Given the description of an element on the screen output the (x, y) to click on. 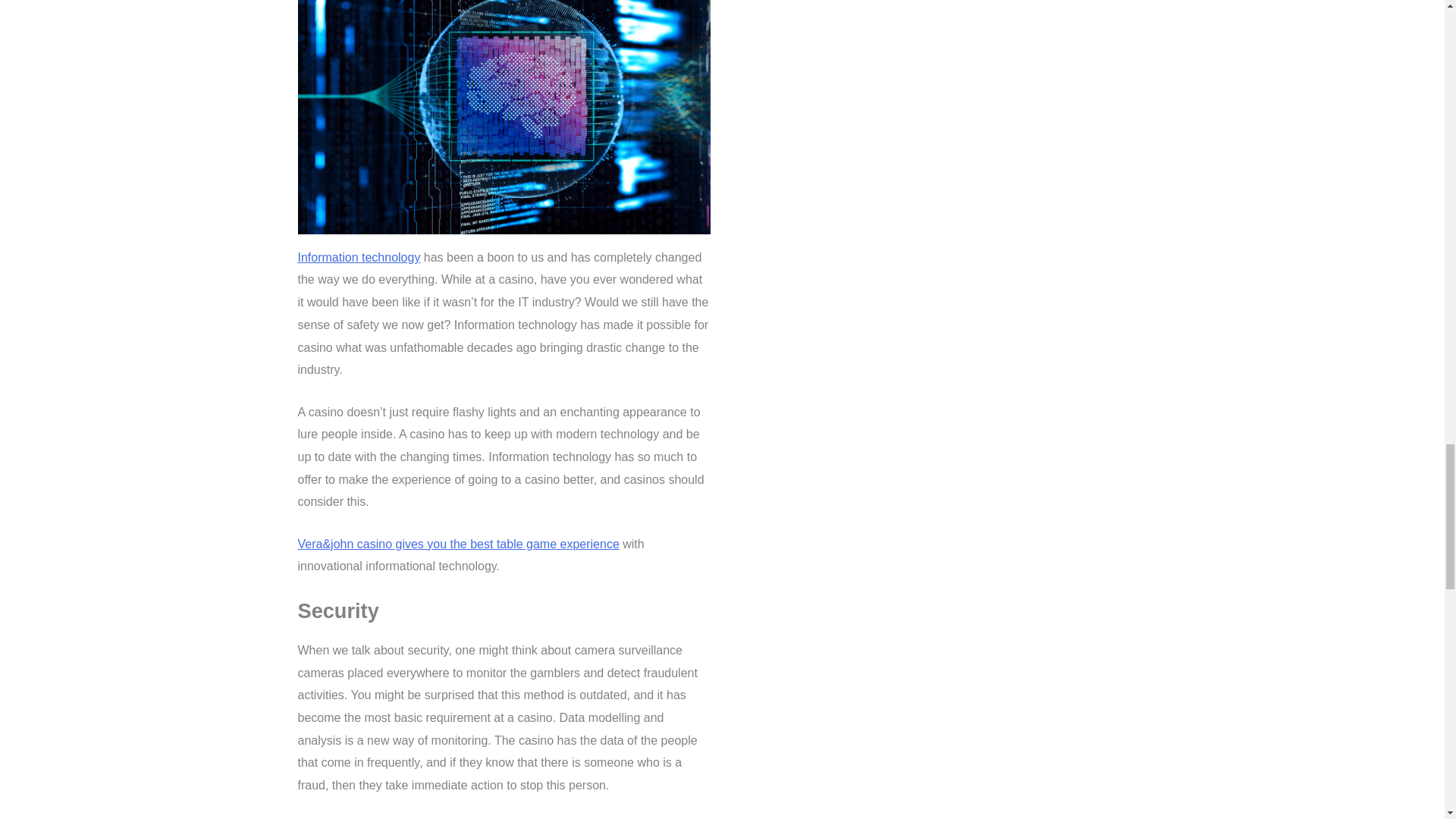
Information technology (358, 256)
Information technology in the casino industry (503, 222)
